Given the description of an element on the screen output the (x, y) to click on. 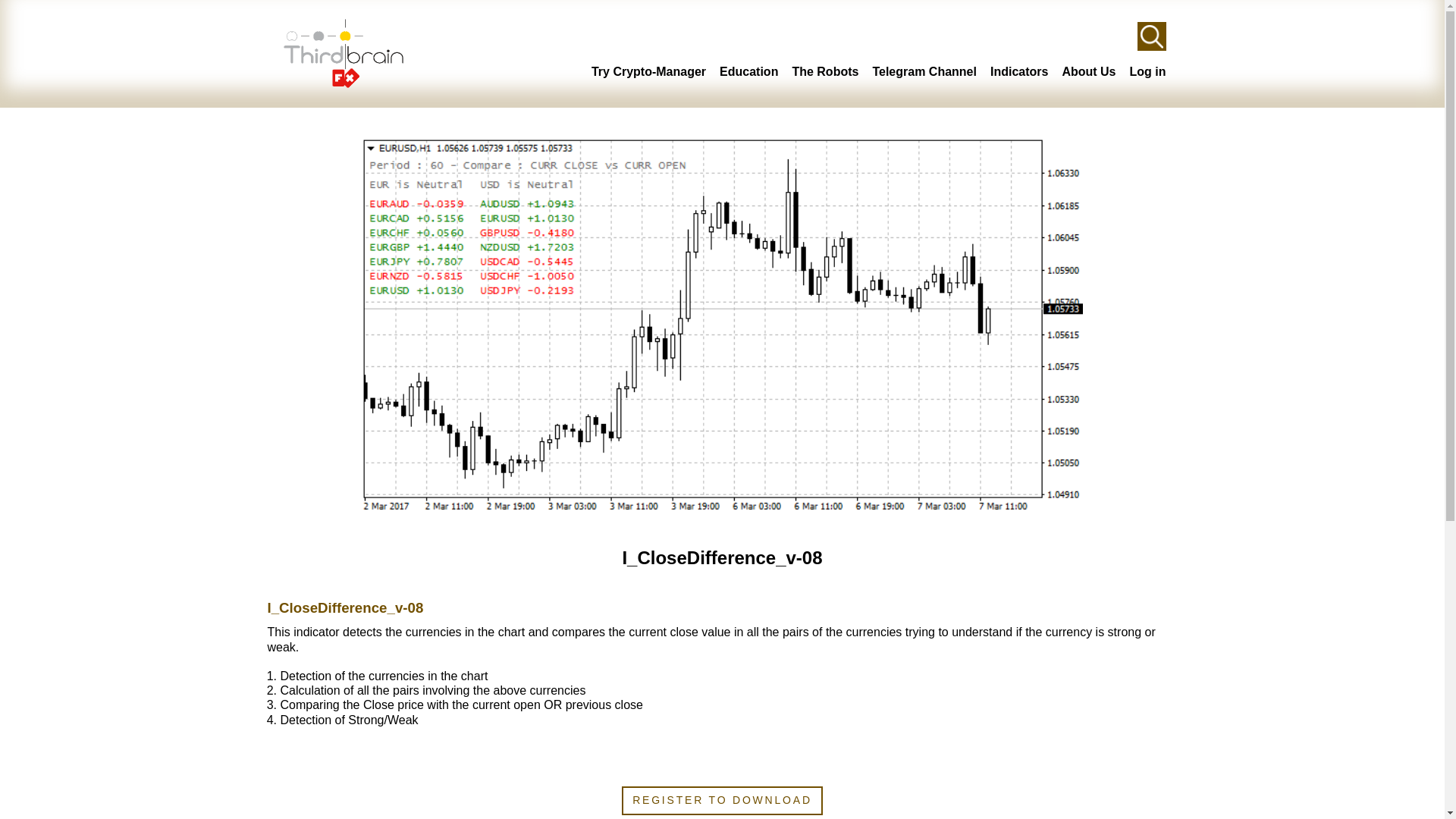
About Us (1088, 71)
Try Crypto-Manager (648, 71)
Indicators (1019, 71)
Education (748, 71)
REGISTER TO DOWNLOAD (721, 800)
Log in (1147, 71)
Telegram Channel (924, 71)
The Robots (825, 71)
